Given the description of an element on the screen output the (x, y) to click on. 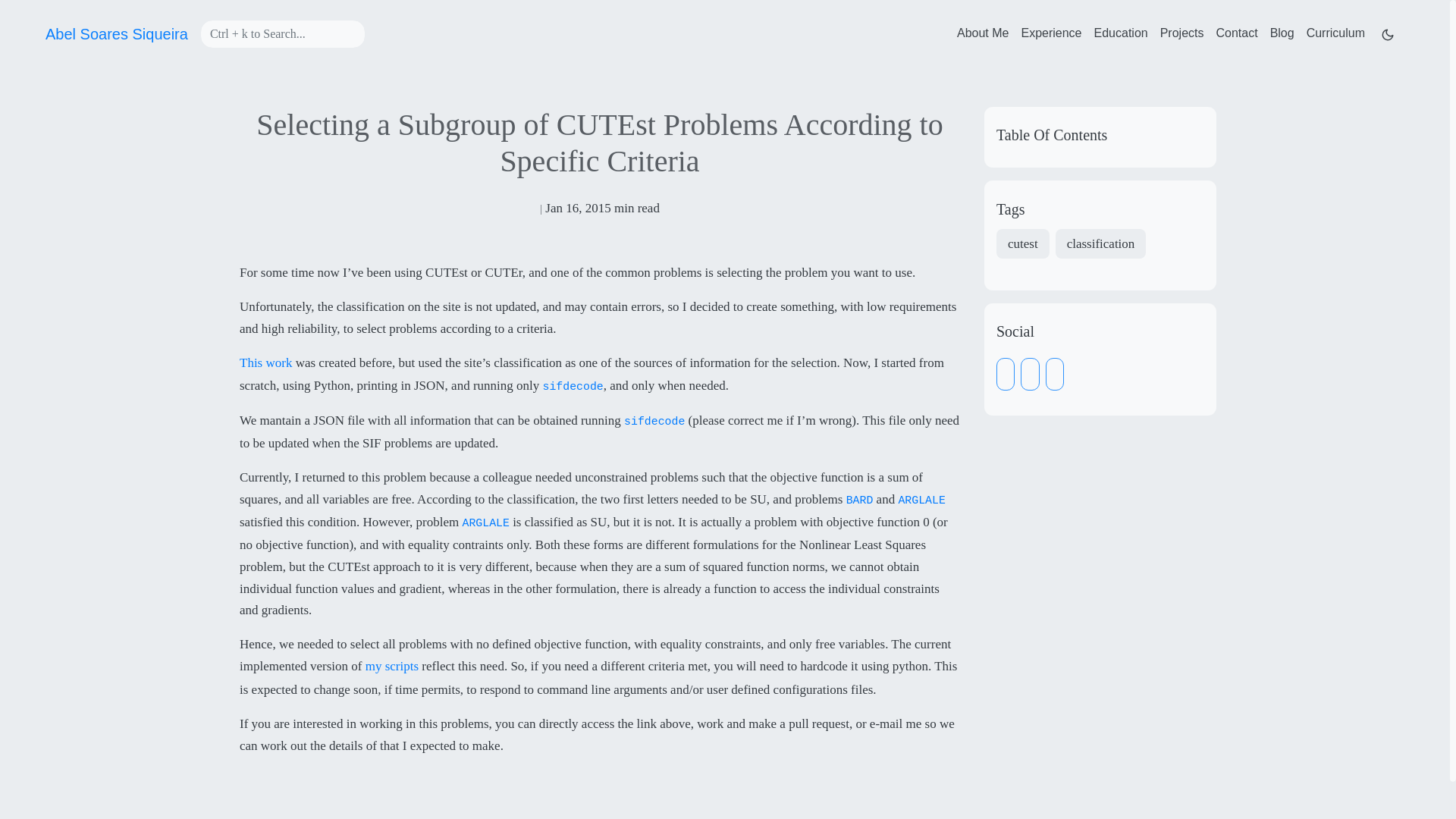
This work (266, 363)
Curriculum (1335, 33)
cutest (1022, 243)
Projects (1181, 33)
Curriculum (1335, 33)
Education (1120, 33)
Blog posts (1281, 33)
Abel Soares Siqueira (116, 33)
About Me (982, 33)
my scripts (392, 667)
